Given the description of an element on the screen output the (x, y) to click on. 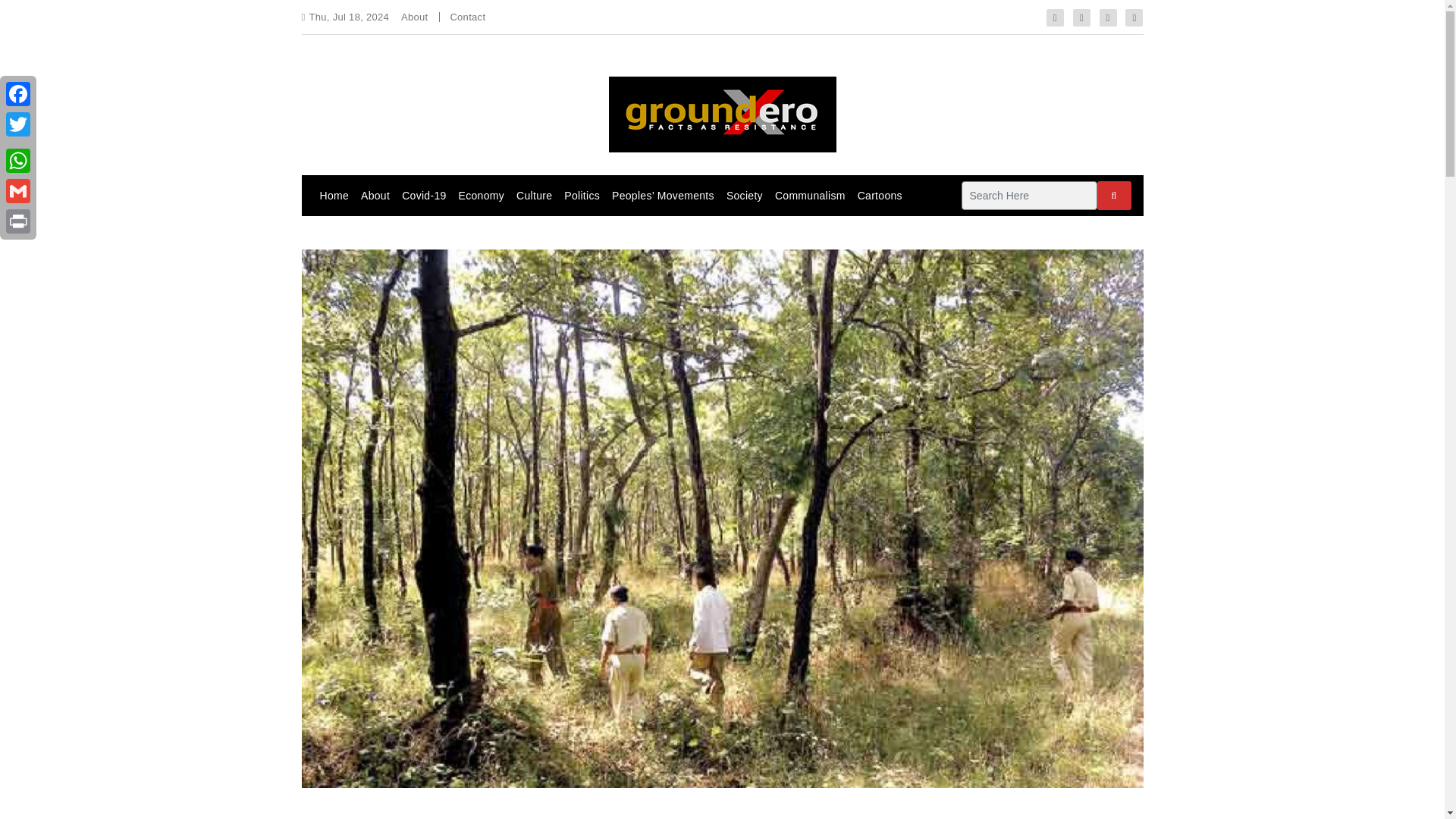
Economy (481, 195)
About (414, 16)
Politics (581, 195)
Communalism (809, 195)
Contact (466, 16)
Home (334, 195)
Home (334, 195)
About (375, 195)
Society (744, 195)
Covid-19 (423, 195)
Economy (481, 195)
Twitter (17, 123)
Peoples' Movements (662, 195)
Society (744, 195)
Culture (534, 195)
